Given the description of an element on the screen output the (x, y) to click on. 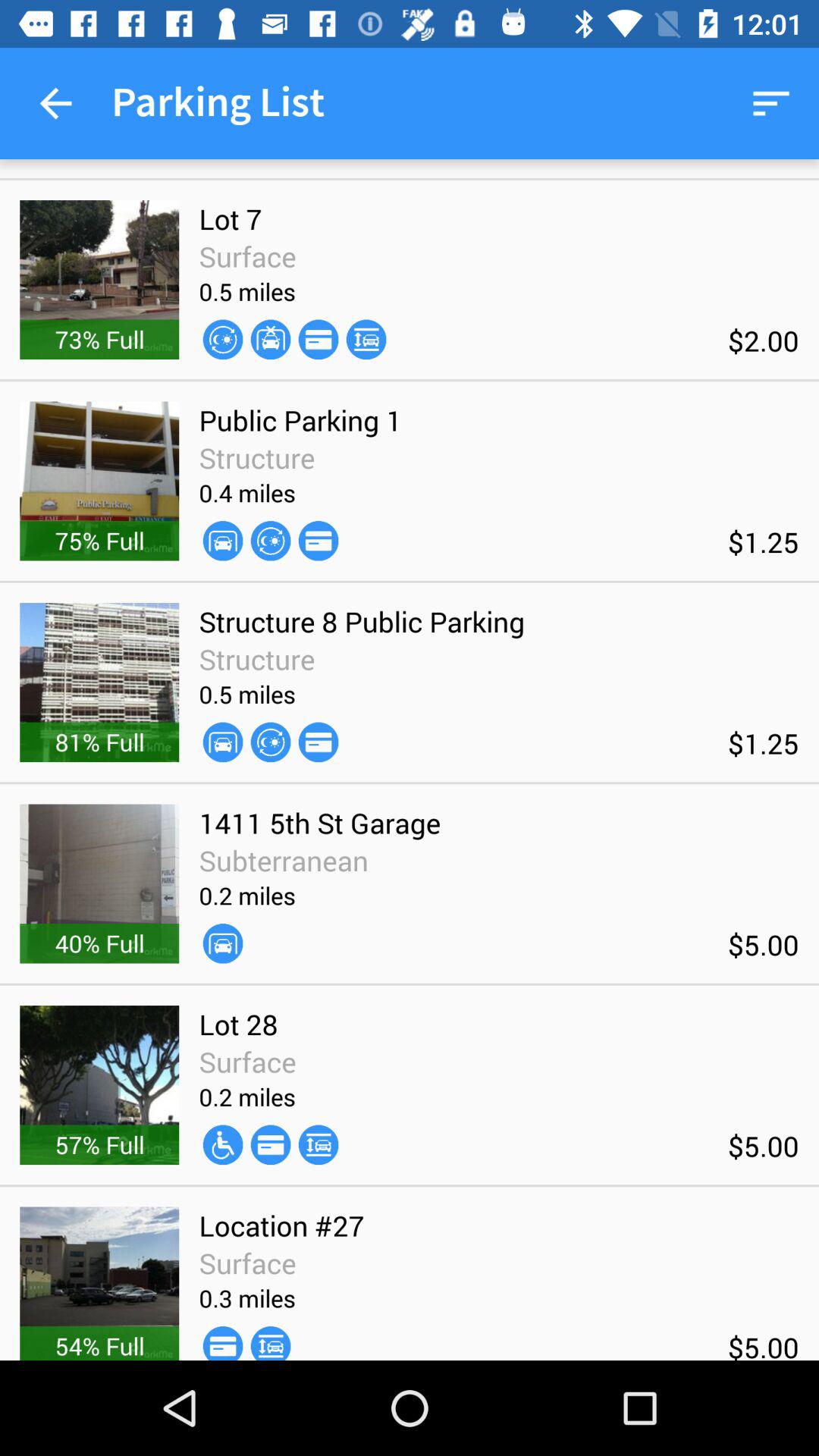
scroll to the 75% full item (99, 540)
